Given the description of an element on the screen output the (x, y) to click on. 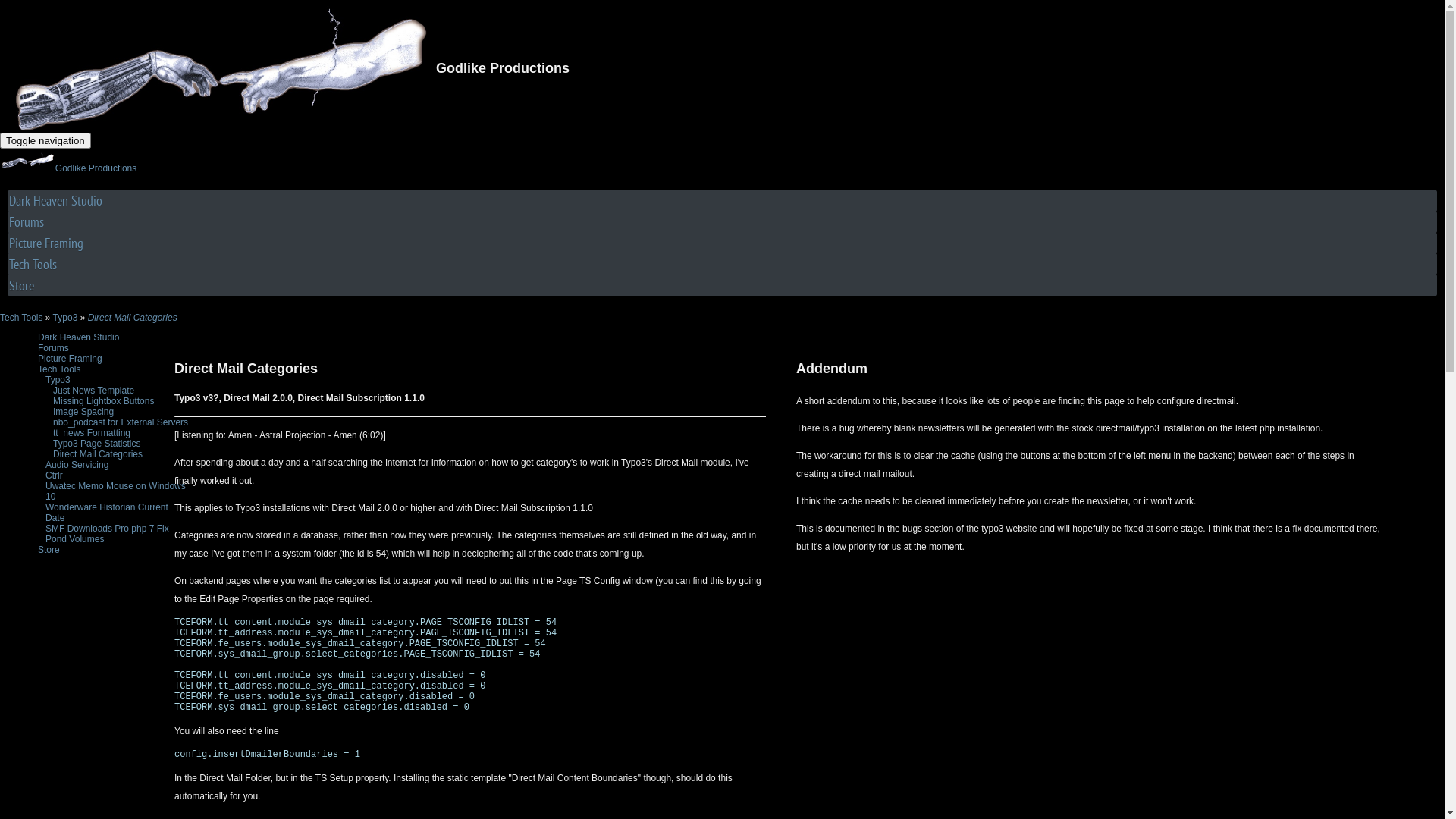
Image Spacing Element type: text (83, 411)
Forums Element type: text (53, 347)
SMF Downloads Pro php 7 Fix Element type: text (107, 528)
Picture Framing Element type: text (69, 358)
nbo_podcast for External Servers Element type: text (120, 422)
Toggle navigation Element type: text (45, 140)
Dark Heaven Studio Element type: text (721, 200)
Tech Tools Element type: text (721, 264)
Tech Tools Element type: text (58, 369)
tt_news Formatting Element type: text (91, 432)
Just News Template Element type: text (93, 390)
Godlike Productions Element type: text (68, 168)
Forums Element type: text (721, 221)
Store Element type: text (721, 285)
Typo3 Element type: text (65, 317)
Audio Servicing Element type: text (76, 464)
Typo3 Page Statistics Element type: text (96, 443)
Pond Volumes Element type: text (74, 538)
Wonderware Historian Current Date Element type: text (106, 512)
Typo3 Element type: text (57, 379)
Direct Mail Categories Element type: text (132, 317)
Tech Tools Element type: text (21, 317)
Ctrlr Element type: text (53, 475)
Direct Mail Categories Element type: text (97, 453)
Missing Lightbox Buttons Element type: text (103, 400)
Store Element type: text (48, 549)
Picture Framing Element type: text (721, 242)
Dark Heaven Studio Element type: text (78, 337)
Uwatec Memo Mouse on Windows 10 Element type: text (115, 491)
